Given the description of an element on the screen output the (x, y) to click on. 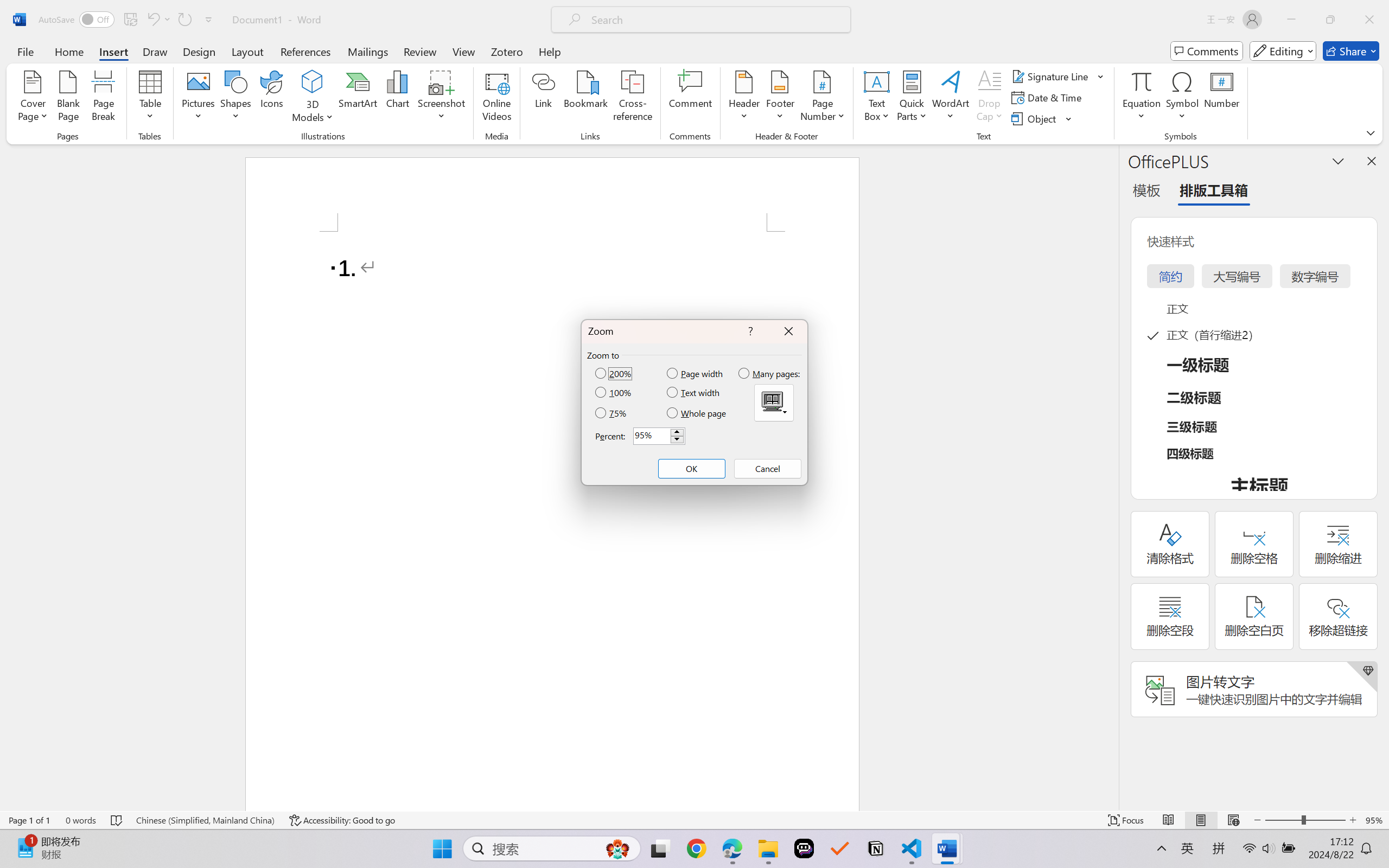
Header (743, 97)
Multiple Pages (774, 402)
OK (691, 468)
100% (614, 392)
